Given the description of an element on the screen output the (x, y) to click on. 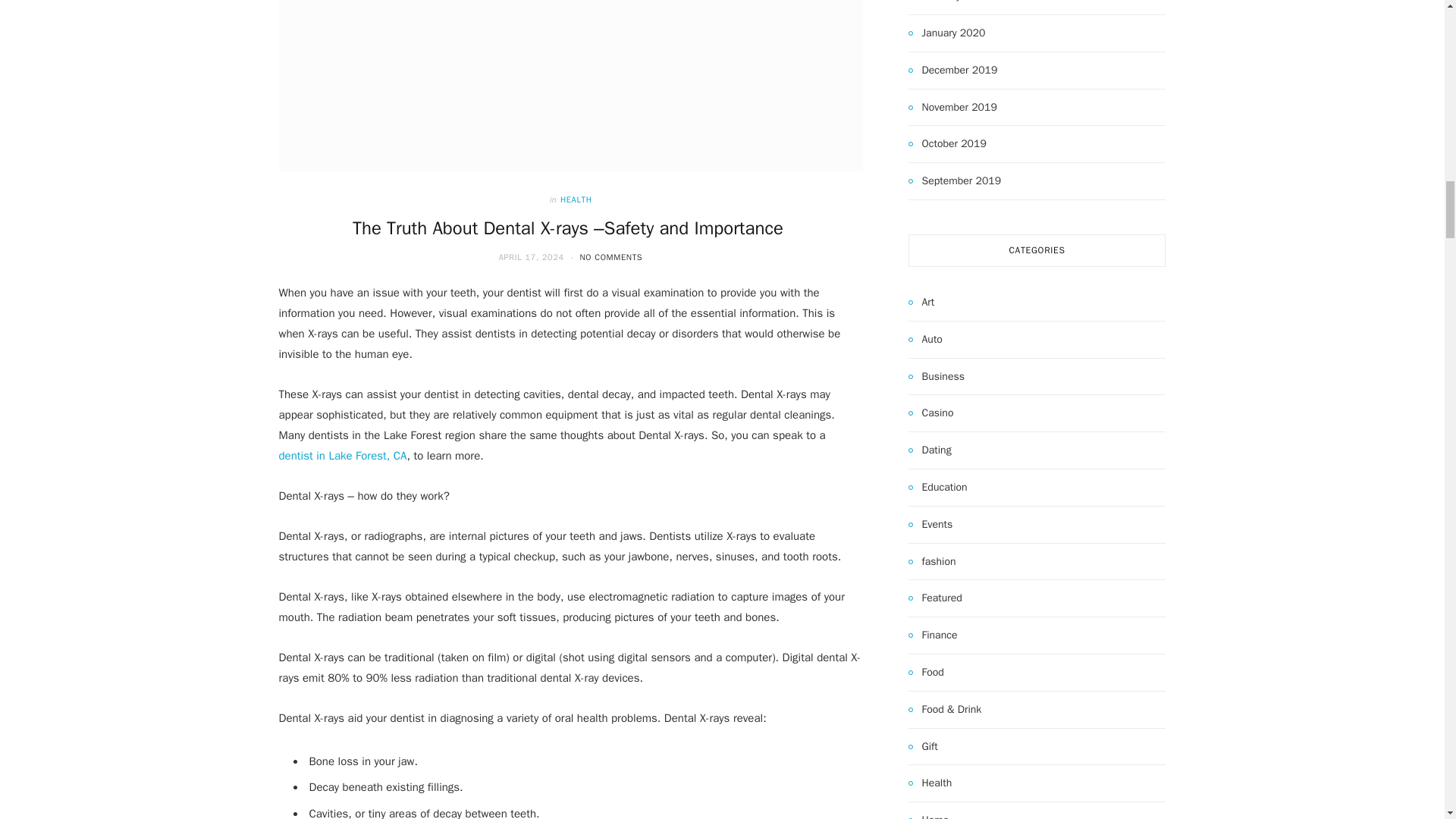
HEALTH (576, 199)
APRIL 17, 2024 (533, 256)
dentist in Lake Forest, CA (343, 455)
NO COMMENTS (610, 256)
